Given the description of an element on the screen output the (x, y) to click on. 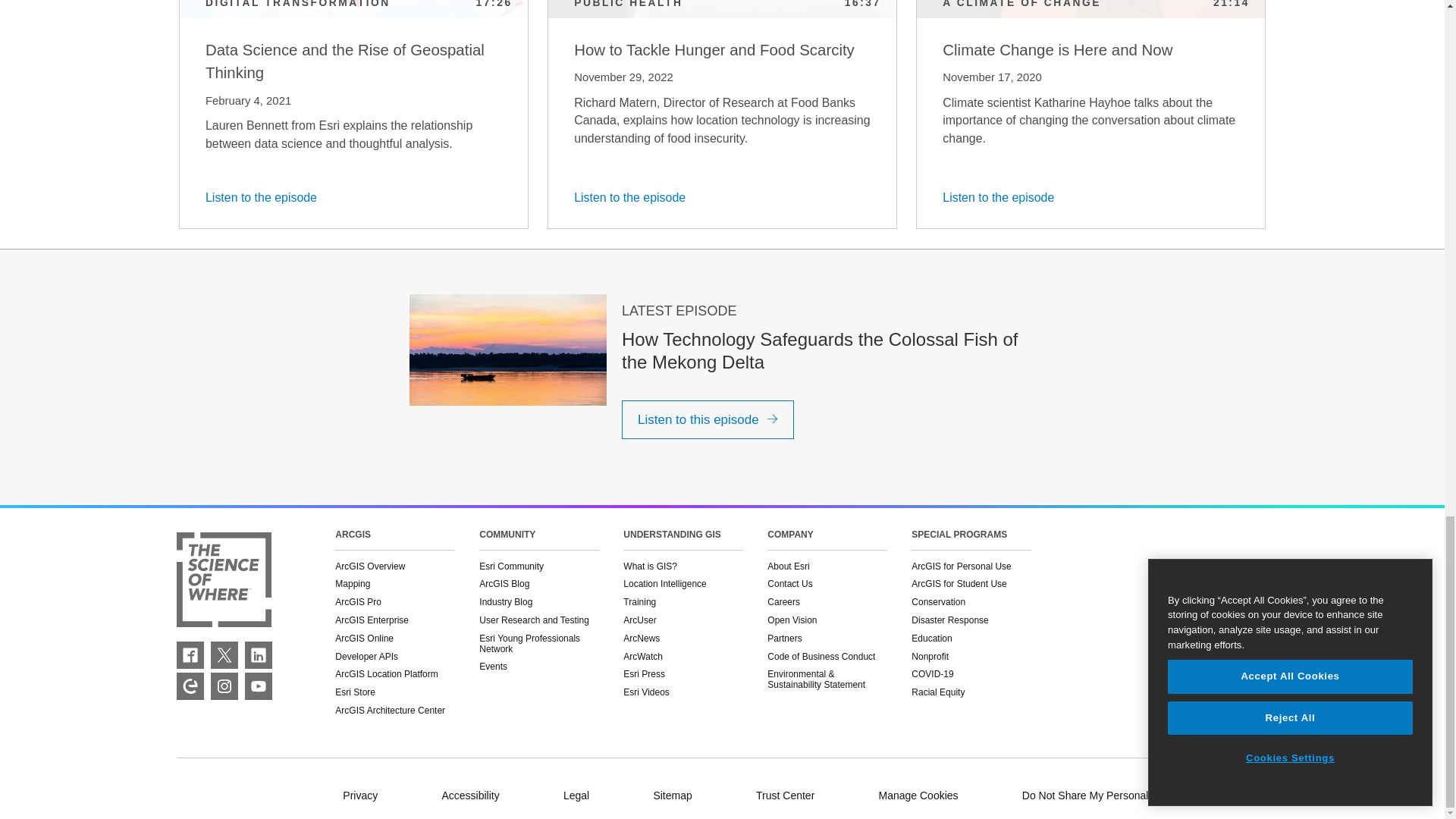
FacebookFacebook (189, 655)
InstagramInstagram (224, 686)
Esri CommunityEsri Community (189, 686)
YouTube (257, 686)
LinkedIn (257, 655)
TwitterTwitter (224, 655)
LinkedInLinkedIn (257, 655)
Esri Community (189, 686)
Instagram (224, 686)
Facebook (189, 655)
More about Esri and the Science of Where (223, 581)
Twitter (224, 655)
